Given the description of an element on the screen output the (x, y) to click on. 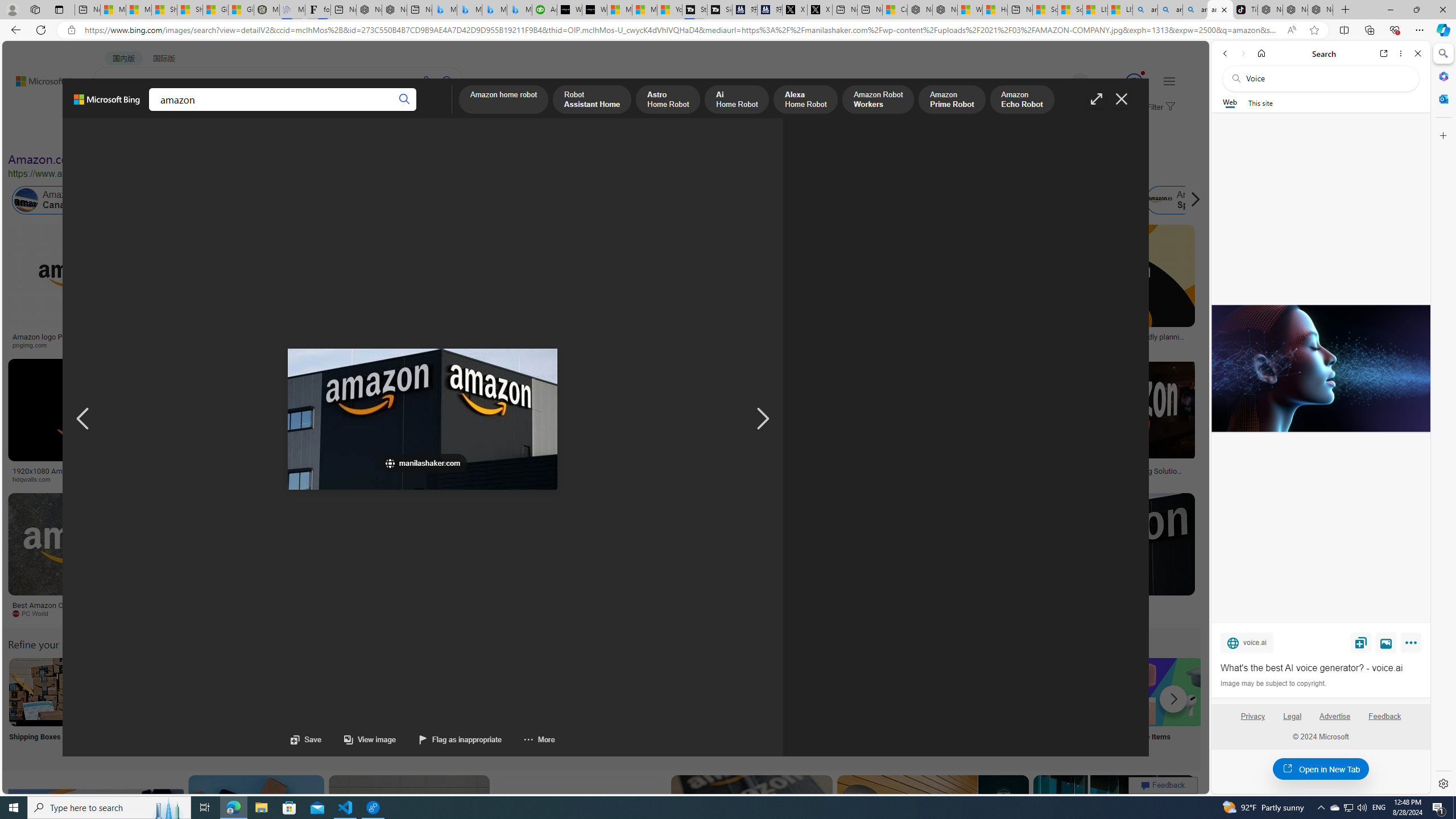
Forward (1242, 53)
Shanghai, China weather forecast | Microsoft Weather (189, 9)
Amazon India (483, 200)
Accounting Software for Accountants, CPAs and Bookkeepers (544, 9)
Retail Store (493, 706)
IMAGES (156, 112)
Amazon Mini TV Mini TV (794, 706)
DICT (357, 111)
Online Shopping Homepage (868, 706)
Amazon Package Delivery Package Delivery (418, 706)
View image (1385, 642)
